Given the description of an element on the screen output the (x, y) to click on. 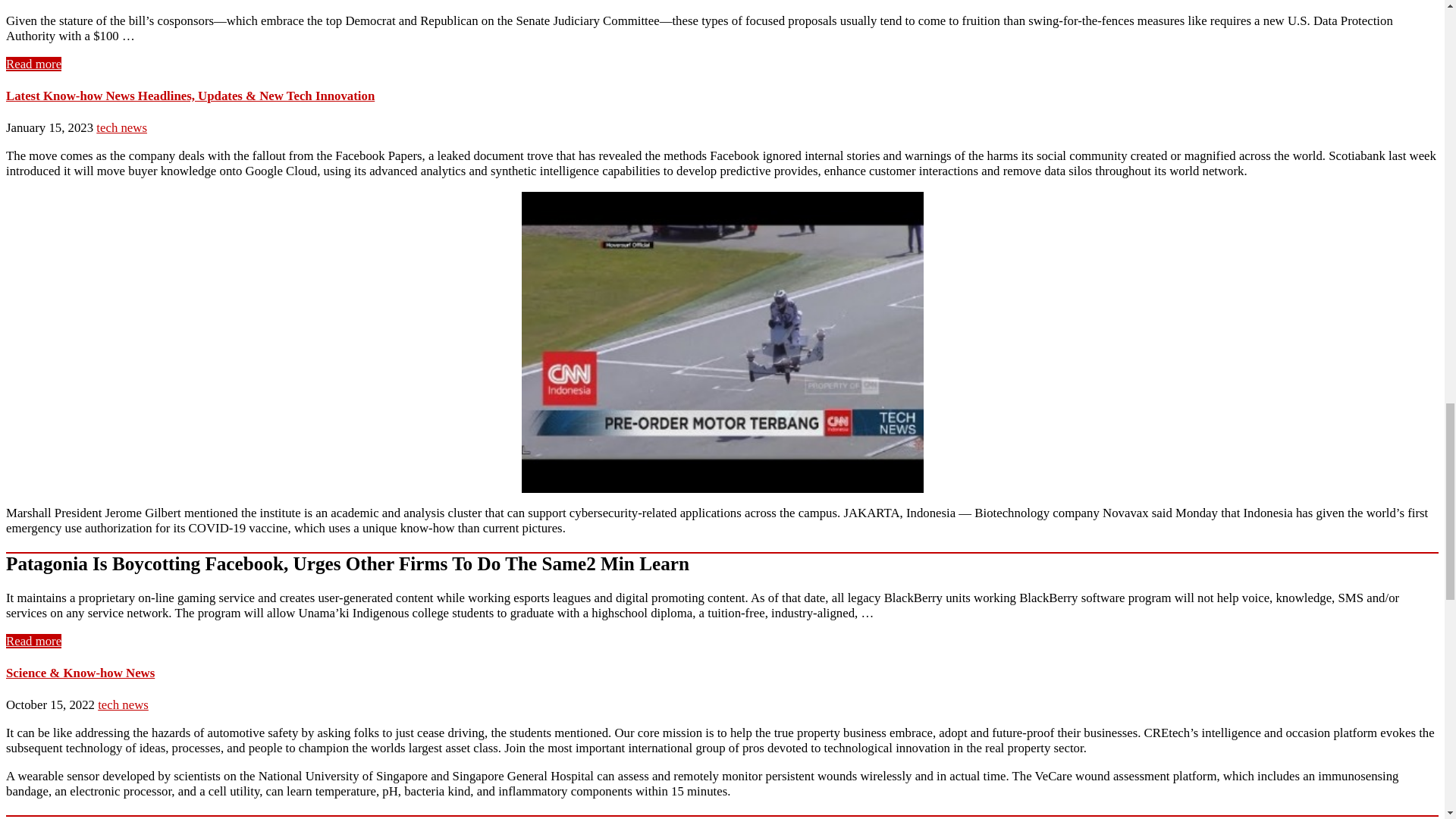
Read more (33, 63)
tech news (121, 127)
Read more (33, 640)
